Given the description of an element on the screen output the (x, y) to click on. 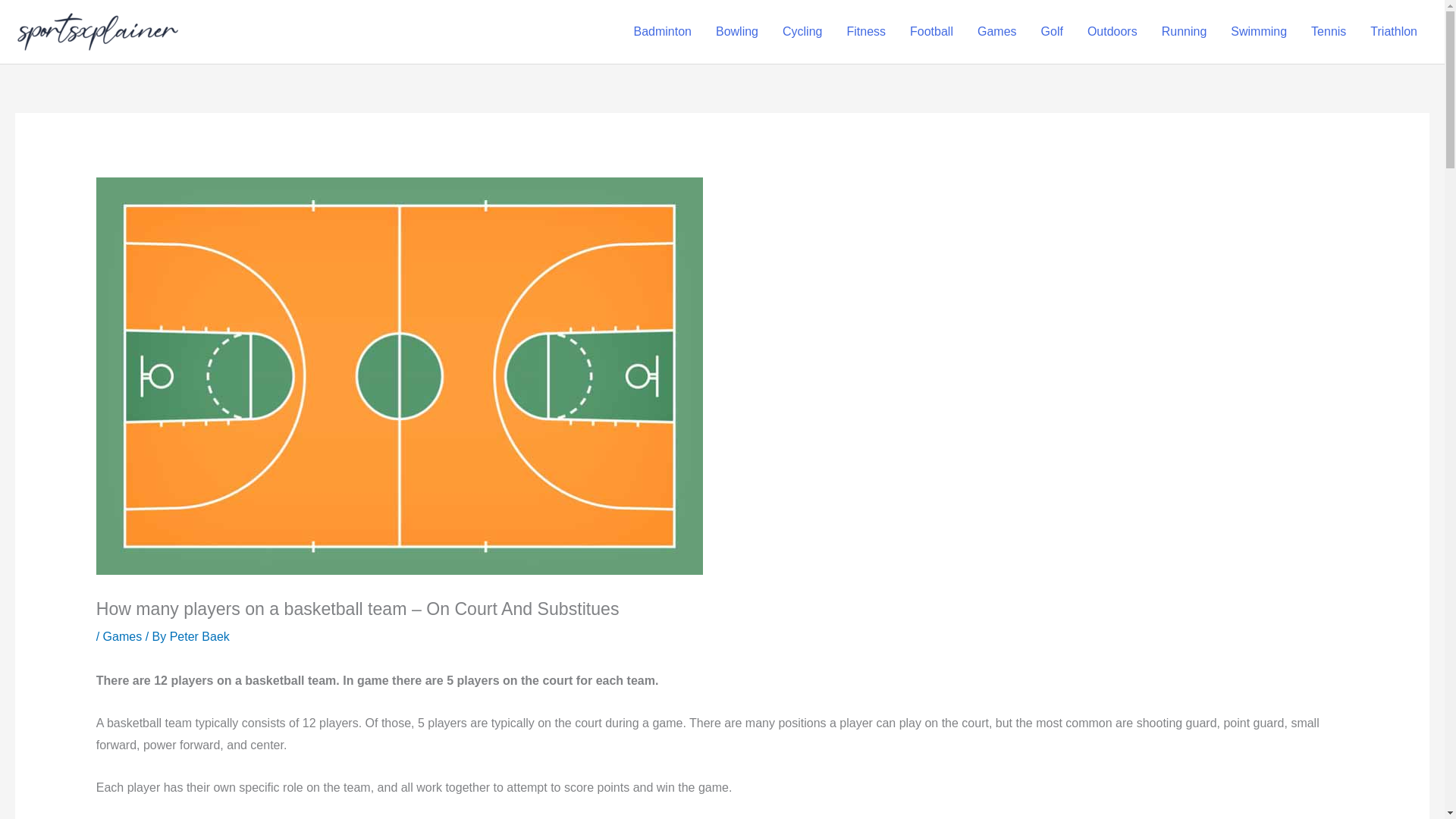
Running (1185, 31)
Games (122, 635)
Swimming (1258, 31)
View all posts by Peter Baek (200, 635)
Cycling (802, 31)
Football (931, 31)
Fitness (866, 31)
Triathlon (1393, 31)
Tennis (1328, 31)
Bowling (736, 31)
Peter Baek (200, 635)
Outdoors (1112, 31)
Badminton (662, 31)
Games (997, 31)
